Given the description of an element on the screen output the (x, y) to click on. 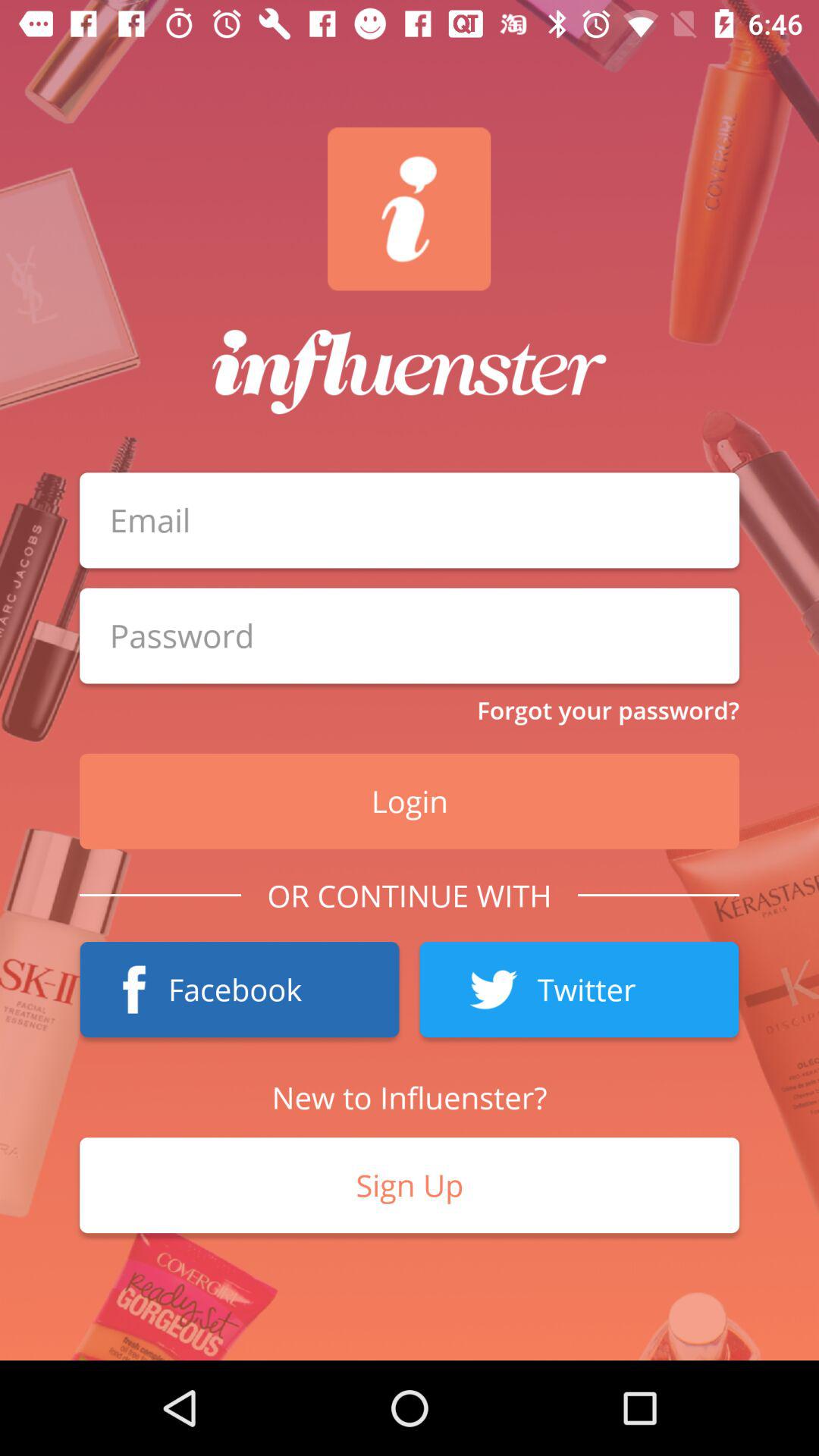
login (409, 635)
